Given the description of an element on the screen output the (x, y) to click on. 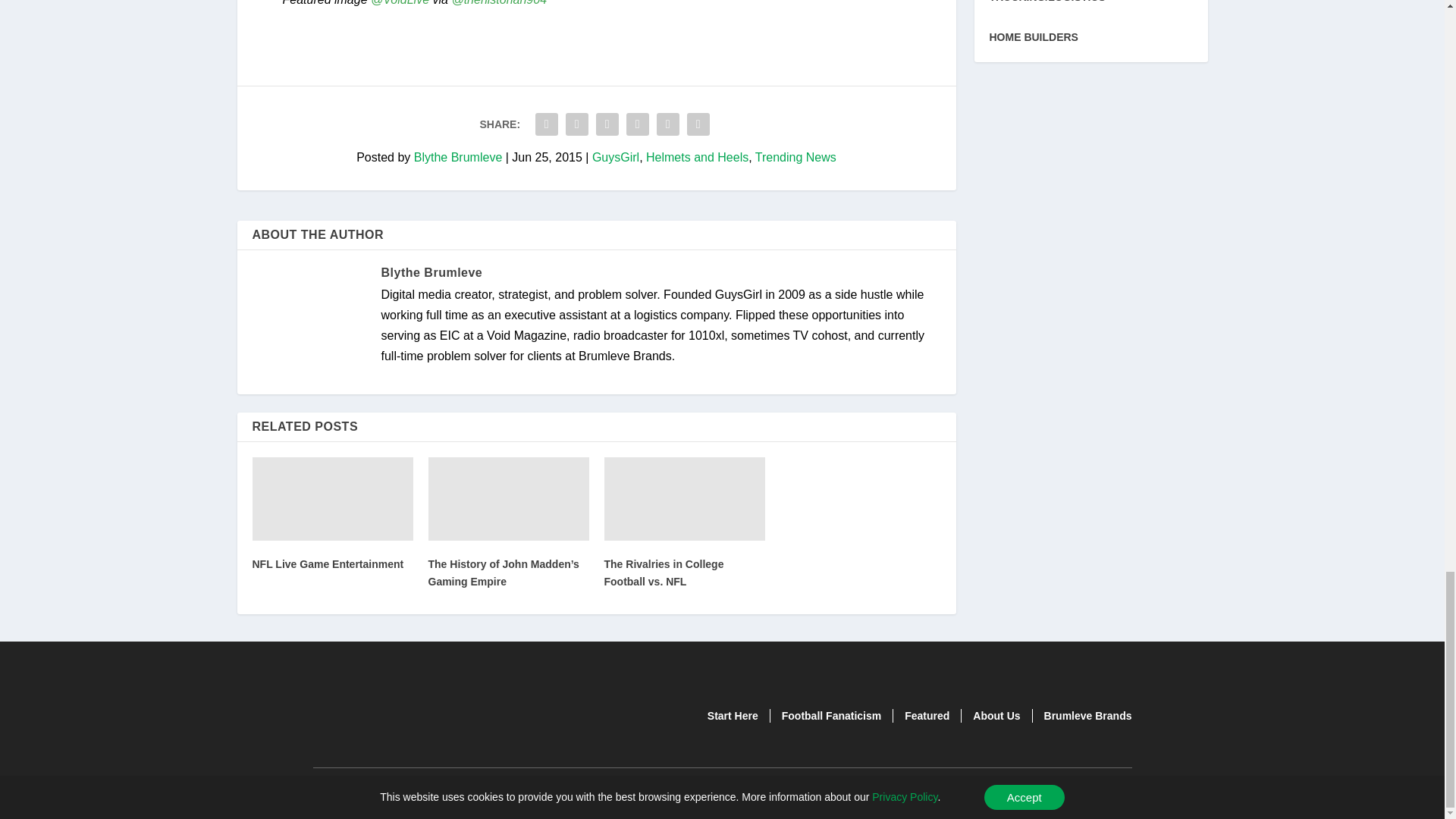
NFL Live Game Entertainment (331, 498)
Posts by Blythe Brumleve (457, 156)
The Rivalries in College Football vs. NFL (684, 498)
View all posts by Blythe Brumleve (430, 272)
